Given the description of an element on the screen output the (x, y) to click on. 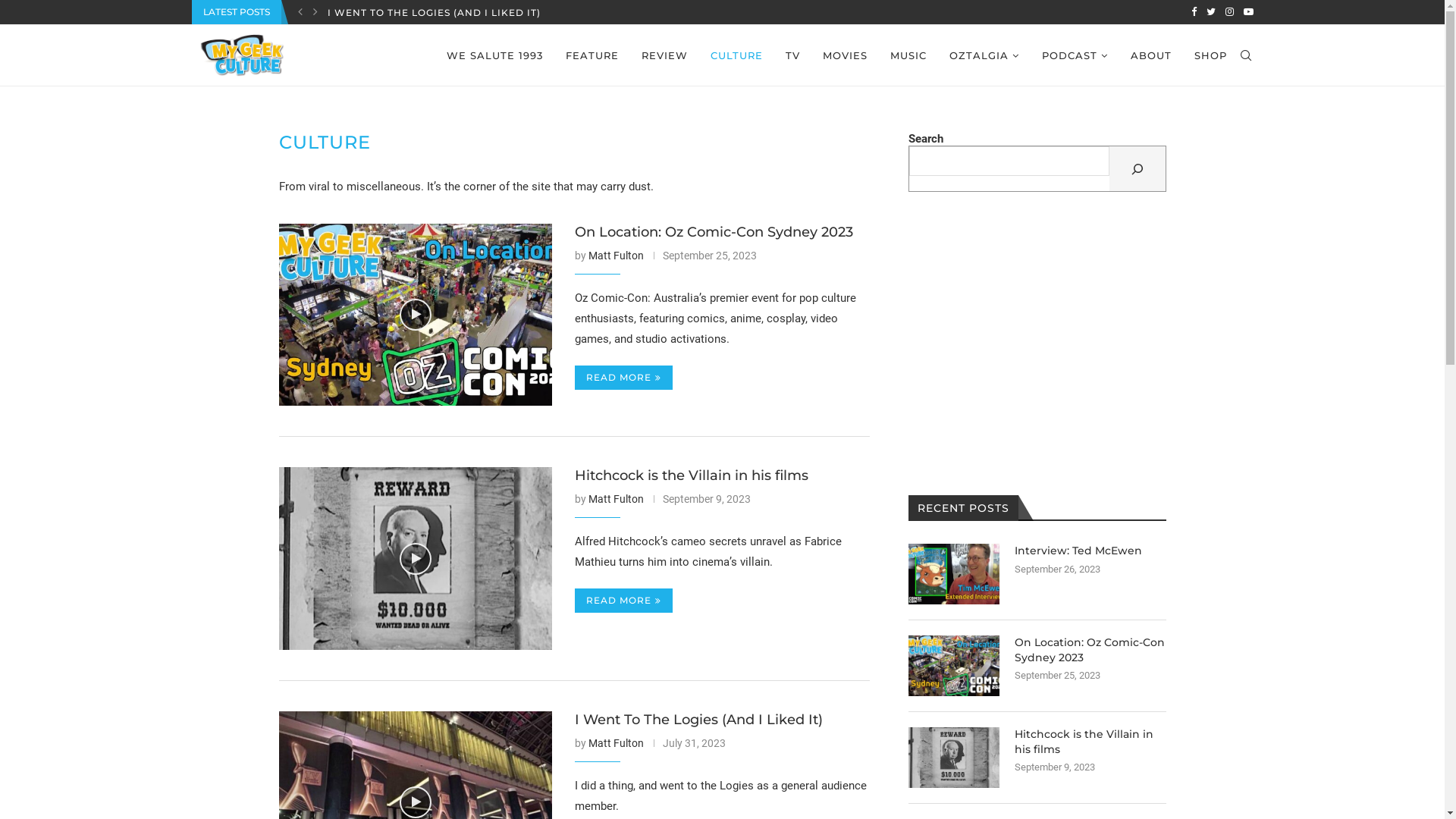
PODCAST Element type: text (1074, 55)
READ MORE Element type: text (623, 377)
Hitchcock is the Villain in his films Element type: hover (953, 757)
Matt Fulton Element type: text (615, 255)
Hitchcock is the Villain in his films Element type: text (691, 475)
HITCHCOCK IS THE VILLAIN IN HIS FILMS Element type: text (437, 12)
OZTALGIA Element type: text (984, 55)
READ MORE Element type: text (623, 600)
FEATURE Element type: text (591, 55)
On Location: Oz Comic-Con Sydney 2023 Element type: hover (953, 665)
On Location: Oz Comic-Con Sydney 2023 Element type: text (1090, 650)
SHOP Element type: text (1209, 55)
REVIEW Element type: text (664, 55)
I Went To The Logies (And I Liked It) Element type: text (698, 719)
Advertisement Element type: hover (1037, 343)
Hitchcock is the Villain in his films Element type: hover (415, 558)
Interview: Ted McEwen Element type: text (1090, 550)
Matt Fulton Element type: text (615, 498)
Matt Fulton Element type: text (615, 743)
Interview: Ted McEwen Element type: hover (953, 573)
ABOUT Element type: text (1149, 55)
TV Element type: text (792, 55)
MUSIC Element type: text (908, 55)
On Location: Oz Comic-Con Sydney 2023 Element type: hover (415, 314)
Hitchcock is the Villain in his films Element type: text (1090, 741)
CULTURE Element type: text (735, 55)
WE SALUTE 1993 Element type: text (493, 55)
On Location: Oz Comic-Con Sydney 2023 Element type: text (713, 231)
MOVIES Element type: text (844, 55)
